Given the description of an element on the screen output the (x, y) to click on. 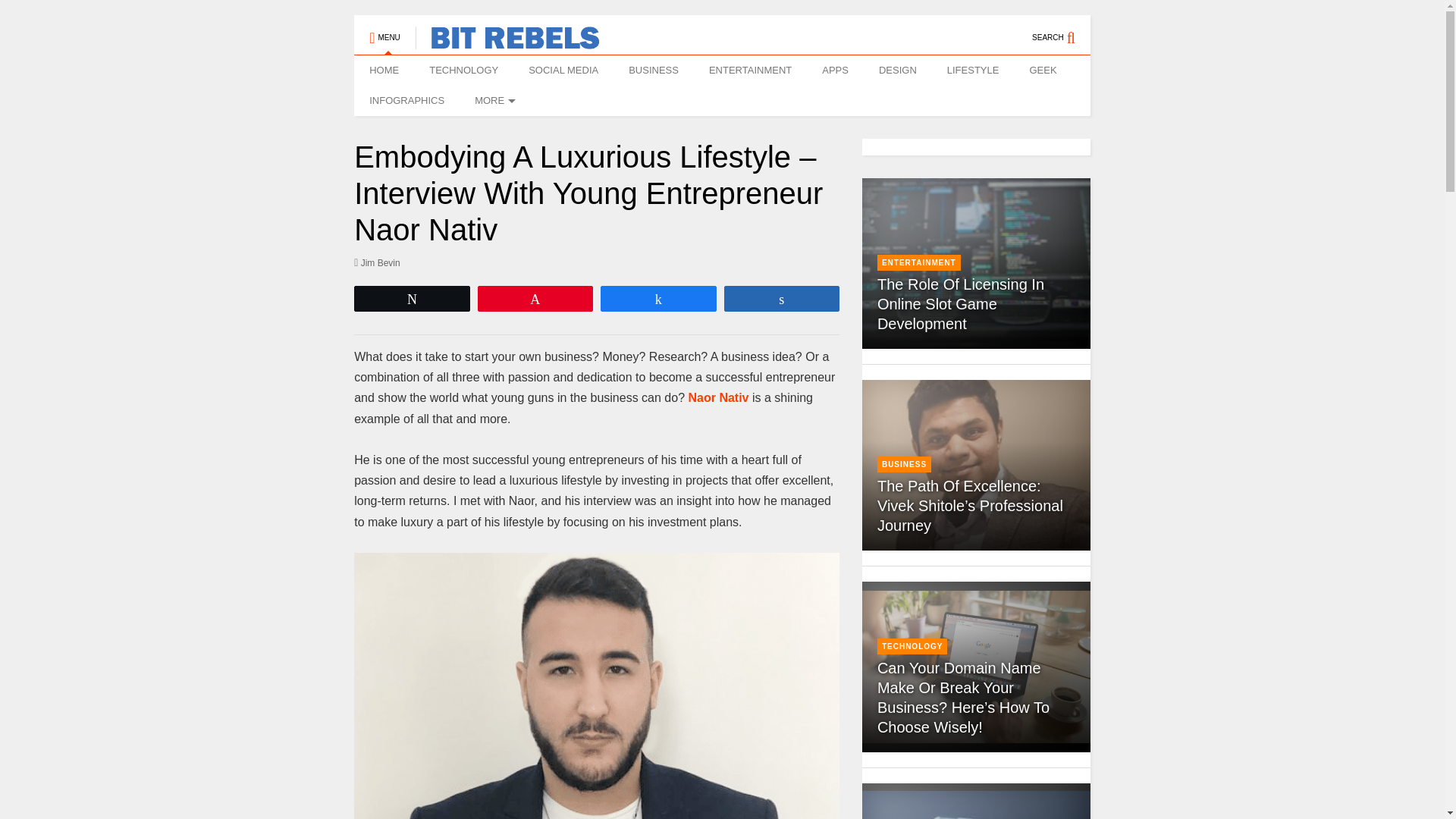
Jim Bevin (375, 263)
MENU (383, 30)
LIFESTYLE (972, 70)
Bit Rebels (506, 42)
APPS (834, 70)
BUSINESS (653, 70)
MORE (493, 100)
DESIGN (897, 70)
TECHNOLOGY (463, 70)
